Given the description of an element on the screen output the (x, y) to click on. 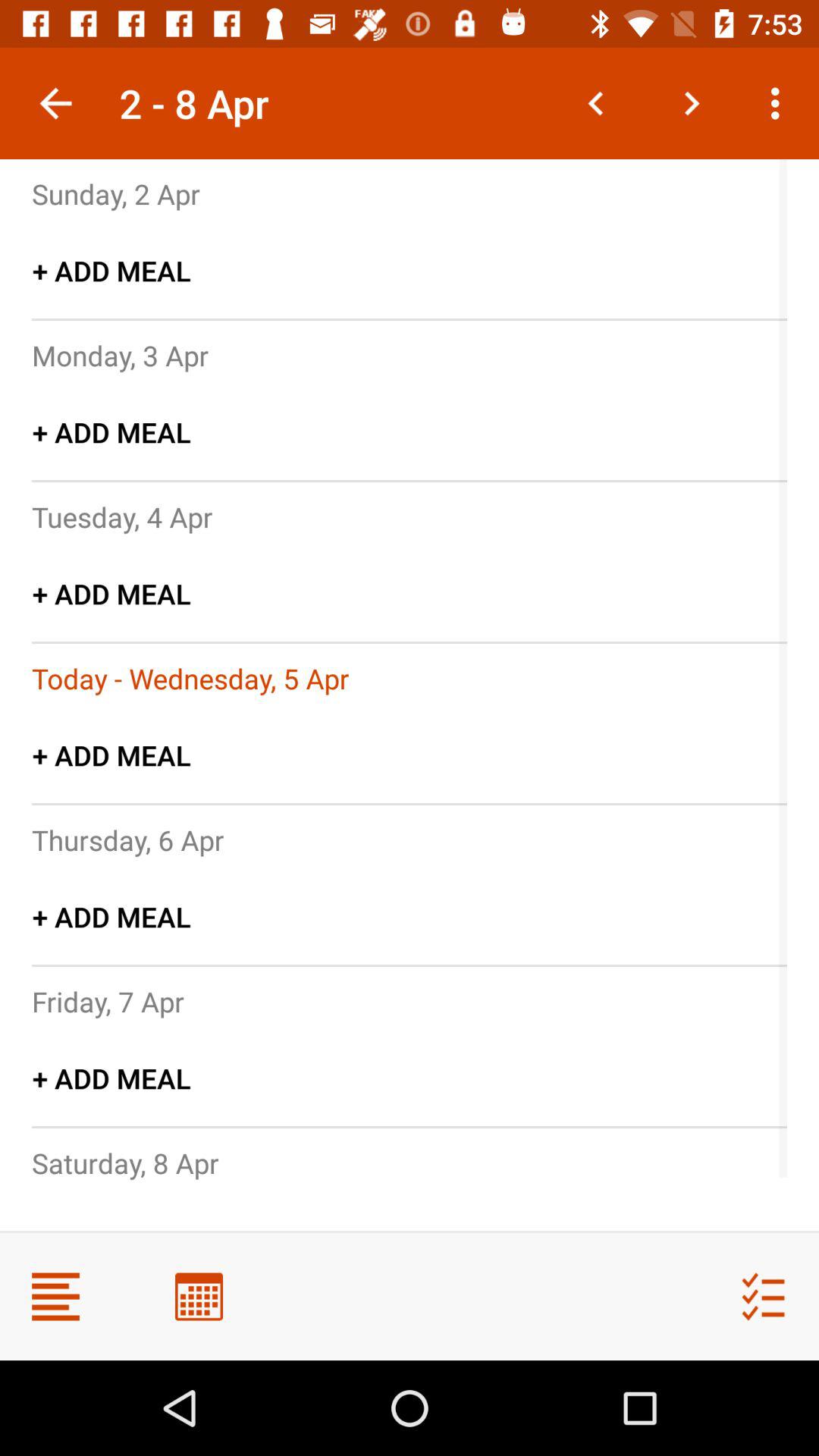
go to previous (595, 103)
